Given the description of an element on the screen output the (x, y) to click on. 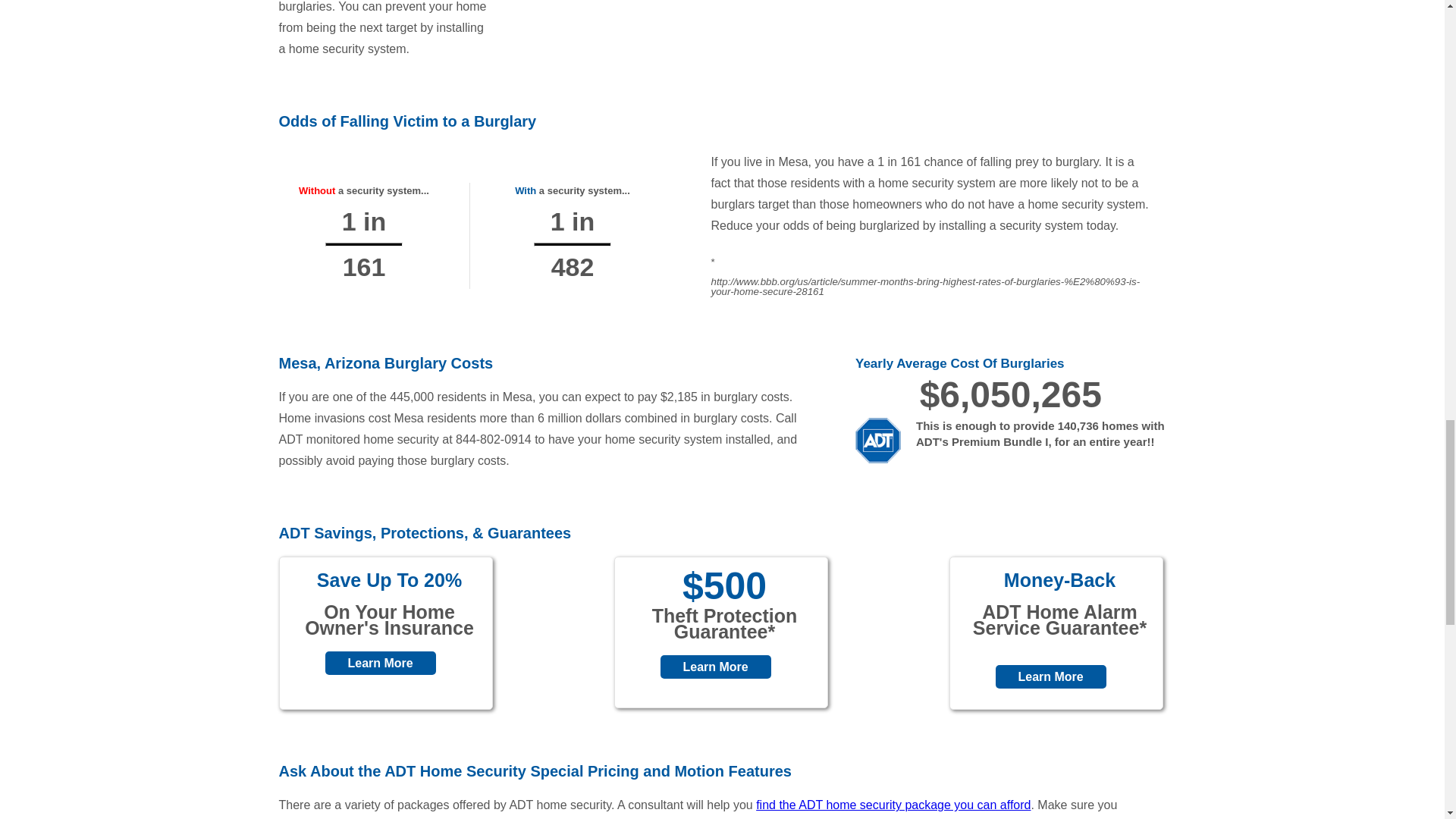
find the ADT home security package you can afford (892, 804)
Learn More (714, 666)
844-802-0914 (493, 439)
find the package you can afford (892, 804)
Learn More (379, 662)
Learn More (1049, 676)
